Given the description of an element on the screen output the (x, y) to click on. 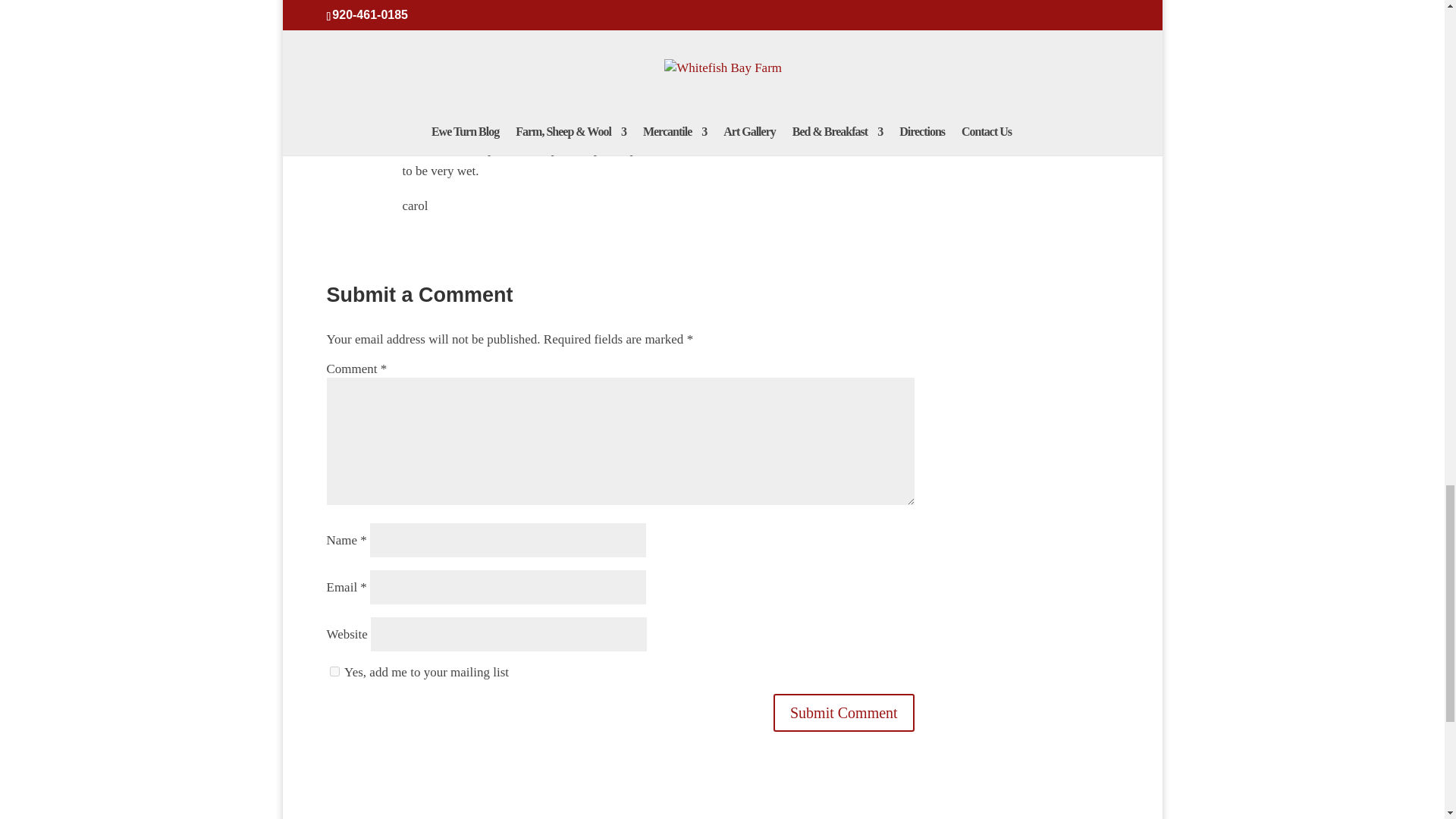
1 (334, 671)
Submit Comment (843, 712)
Reply (898, 126)
Submit Comment (843, 712)
Reply (898, 24)
